Given the description of an element on the screen output the (x, y) to click on. 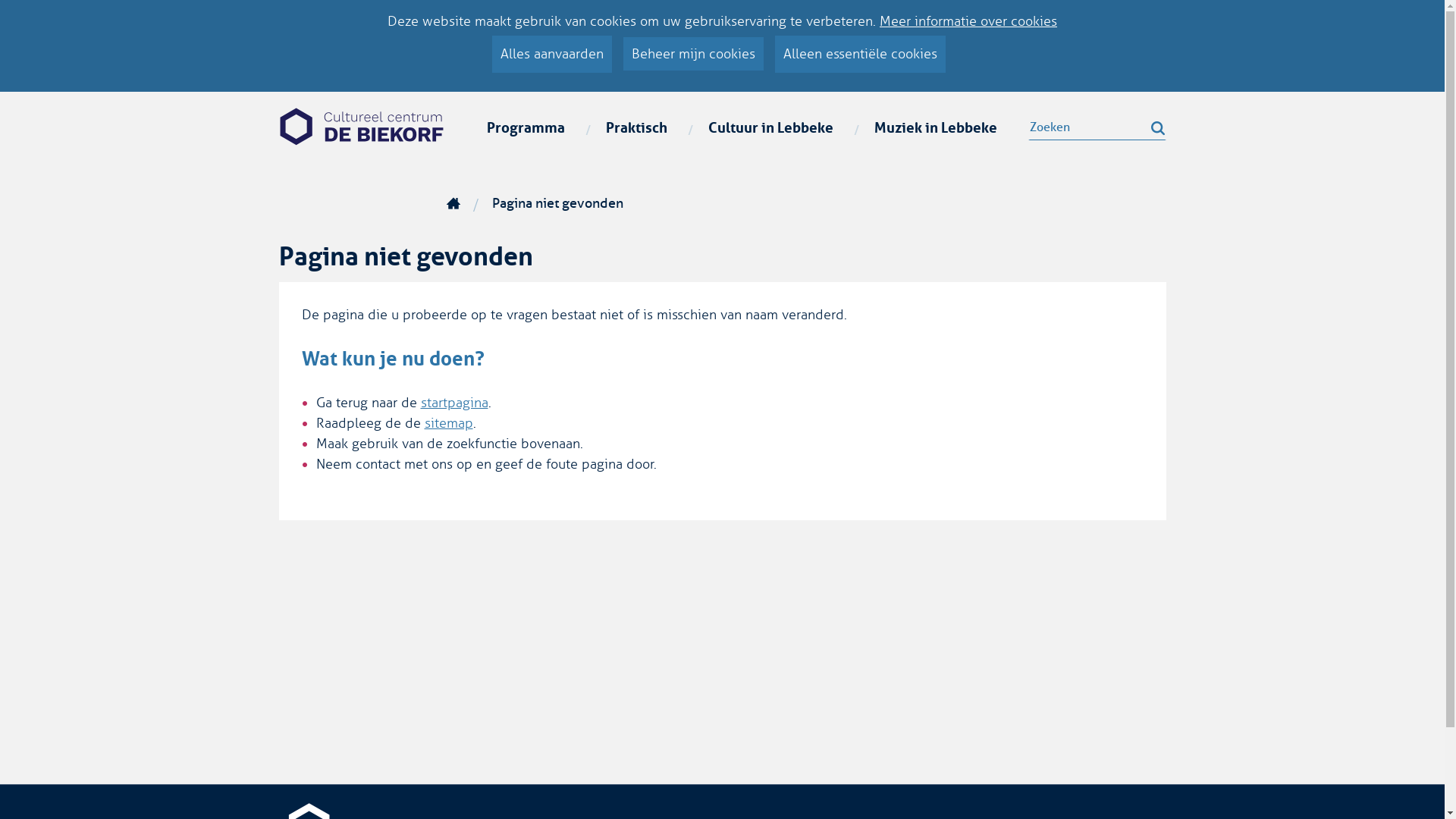
Meer informatie over cookies Element type: text (968, 20)
Programma Element type: text (525, 128)
Cultuur in Lebbeke Element type: text (770, 128)
startpagina Element type: text (453, 402)
Muziek in Lebbeke Element type: text (935, 128)
Praktisch Element type: text (636, 128)
Zoeken Element type: text (1097, 128)
CC De Biekorf Element type: text (362, 125)
sitemap Element type: text (448, 422)
Alles aanvaarden Element type: text (551, 53)
Home Element type: text (453, 203)
Beheer mijn cookies Element type: text (693, 53)
